Given the description of an element on the screen output the (x, y) to click on. 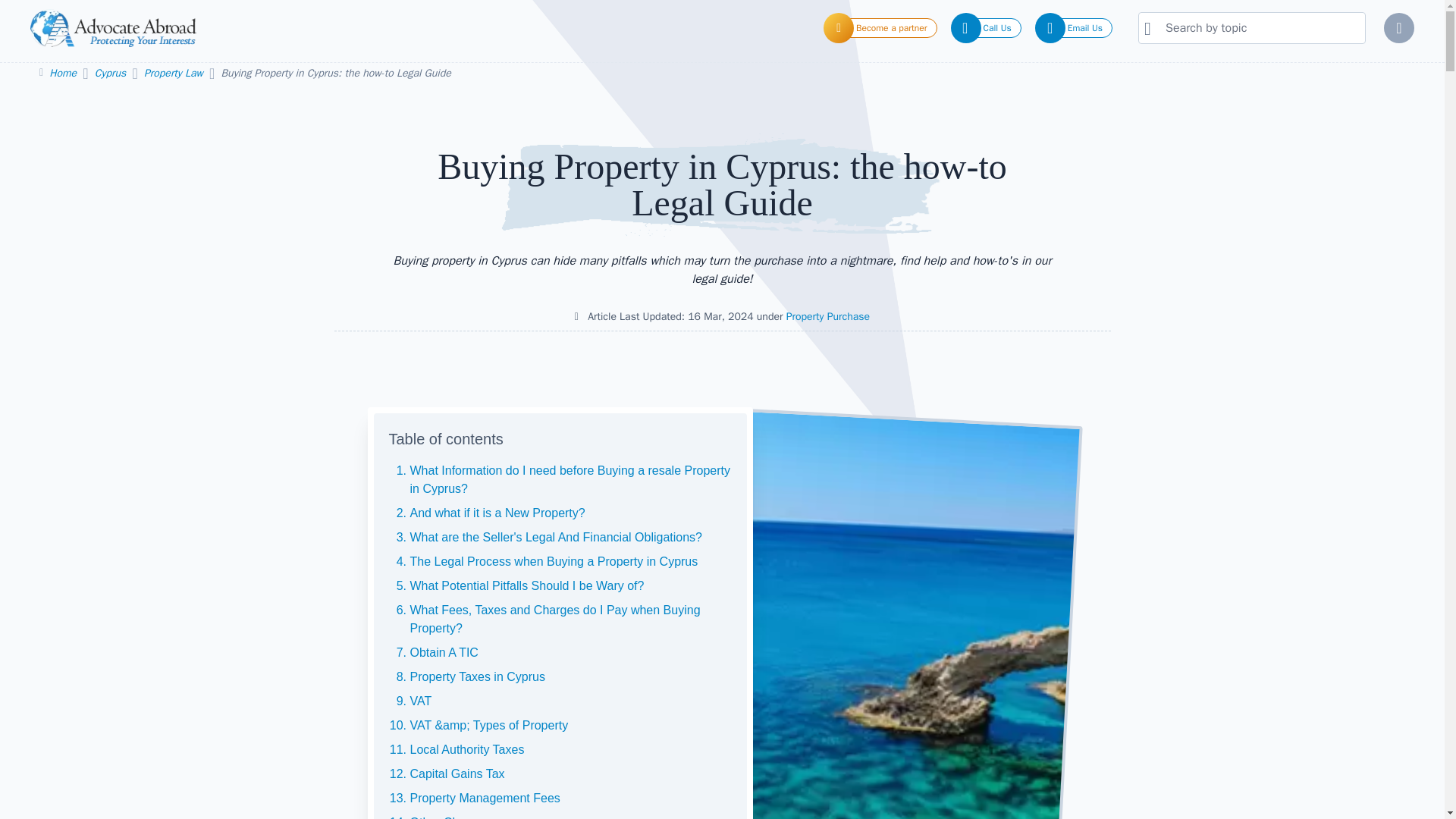
Cyprus (111, 72)
Capital Gains Tax (456, 773)
What Fees, Taxes and Charges do I Pay when Buying Property? (554, 618)
Local Authority Taxes (466, 748)
What Potential Pitfalls Should I be Wary of? (526, 585)
VAT (419, 700)
Property Management Fees (484, 797)
The Legal Process when Buying a Property in Cyprus (553, 561)
Home (64, 72)
